Given the description of an element on the screen output the (x, y) to click on. 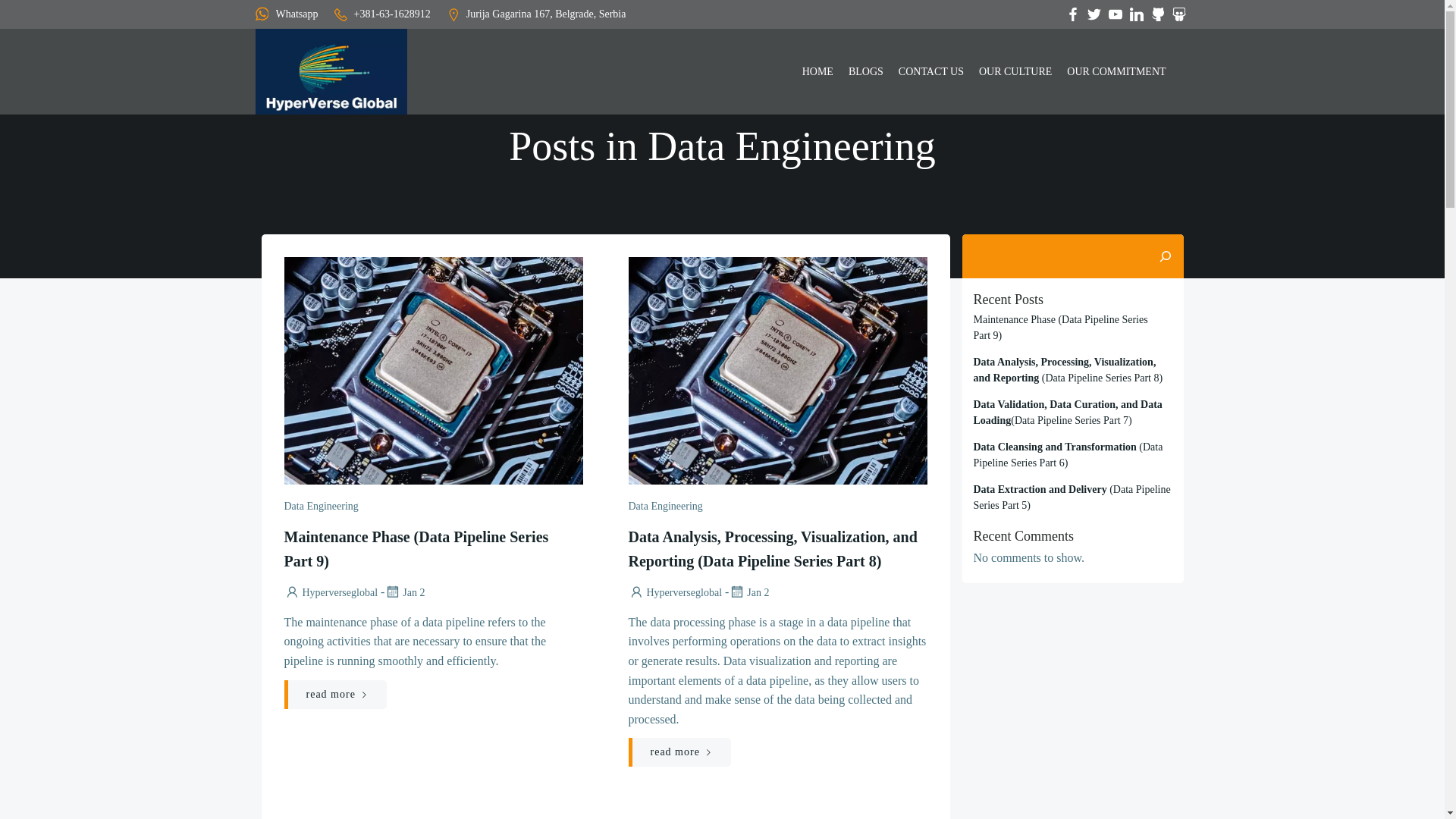
Jurija Gagarina 167, Belgrade, Serbia (535, 13)
Hyperverseglobal (674, 592)
Jan 2 (404, 592)
OUR COMMITMENT (1116, 71)
Jan 2 (748, 592)
Hyperverseglobal (330, 592)
HOME (817, 71)
Data Engineering (320, 505)
Data Engineering (664, 505)
OUR CULTURE (1014, 71)
CONTACT US (930, 71)
read more (334, 694)
BLOGS (865, 71)
read more (678, 751)
